Given the description of an element on the screen output the (x, y) to click on. 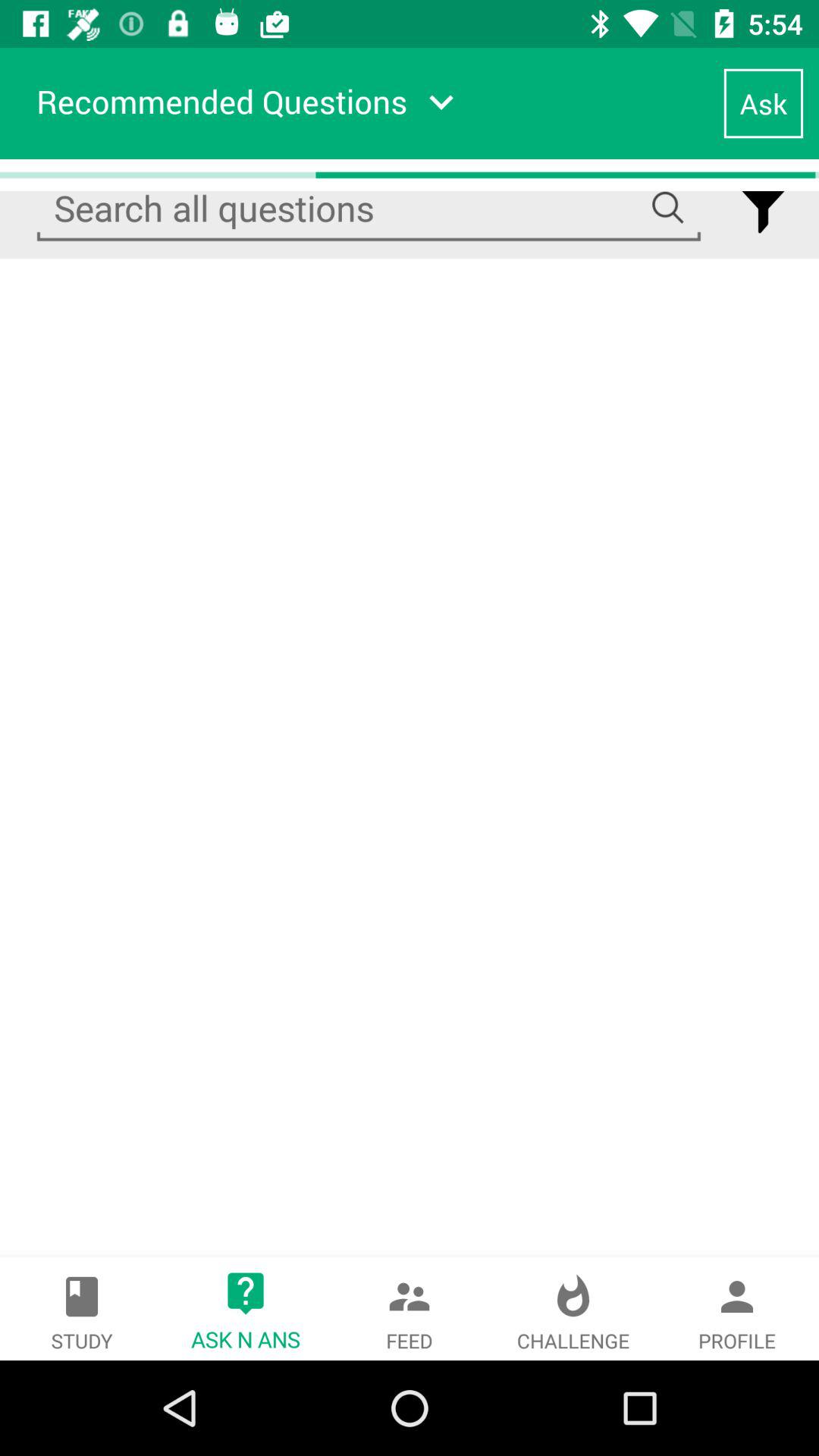
click to filter (763, 208)
